Given the description of an element on the screen output the (x, y) to click on. 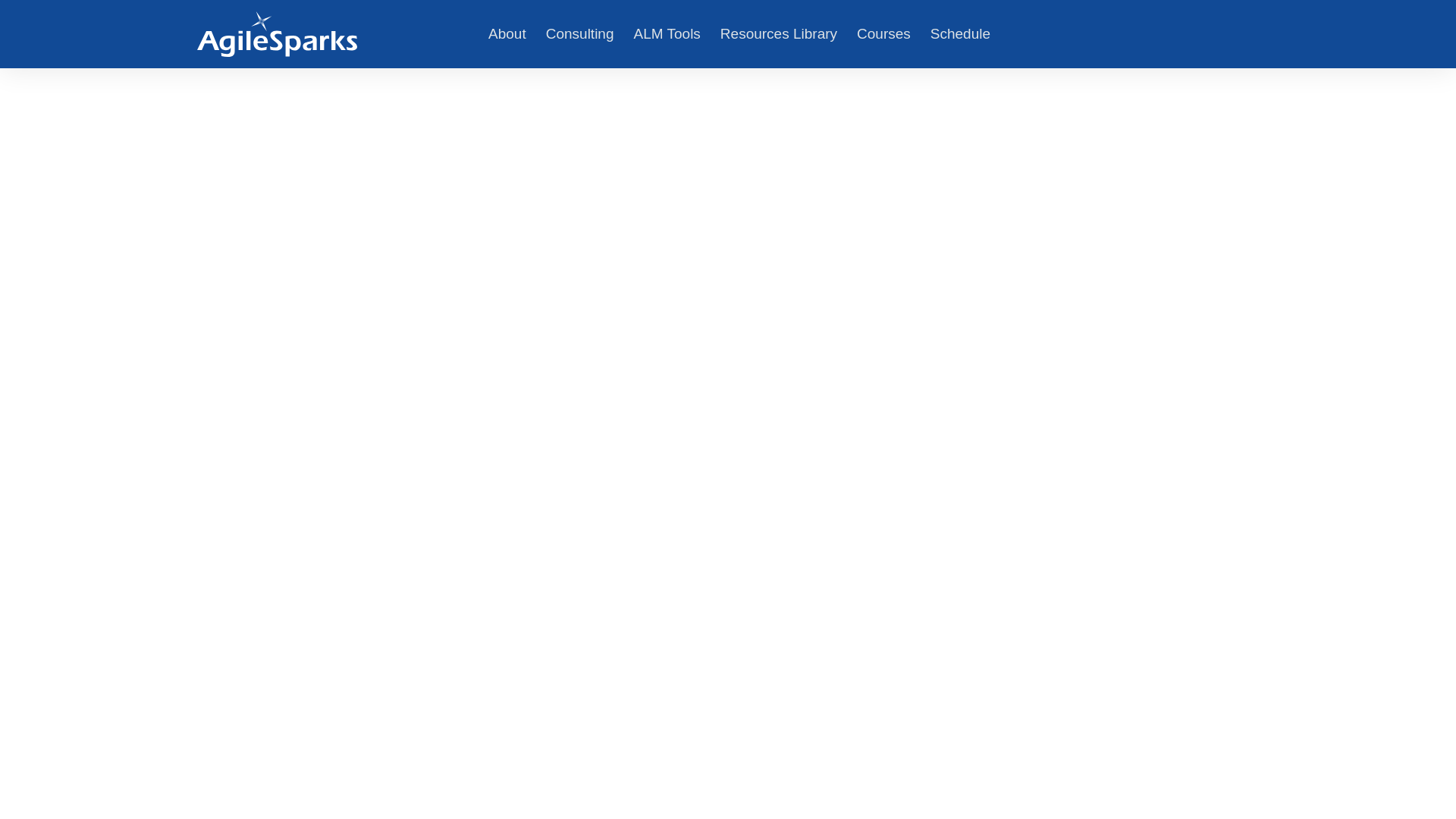
Resources Library (778, 34)
About (506, 34)
ALM Tools (666, 34)
Courses (883, 34)
Consulting (580, 34)
